Given the description of an element on the screen output the (x, y) to click on. 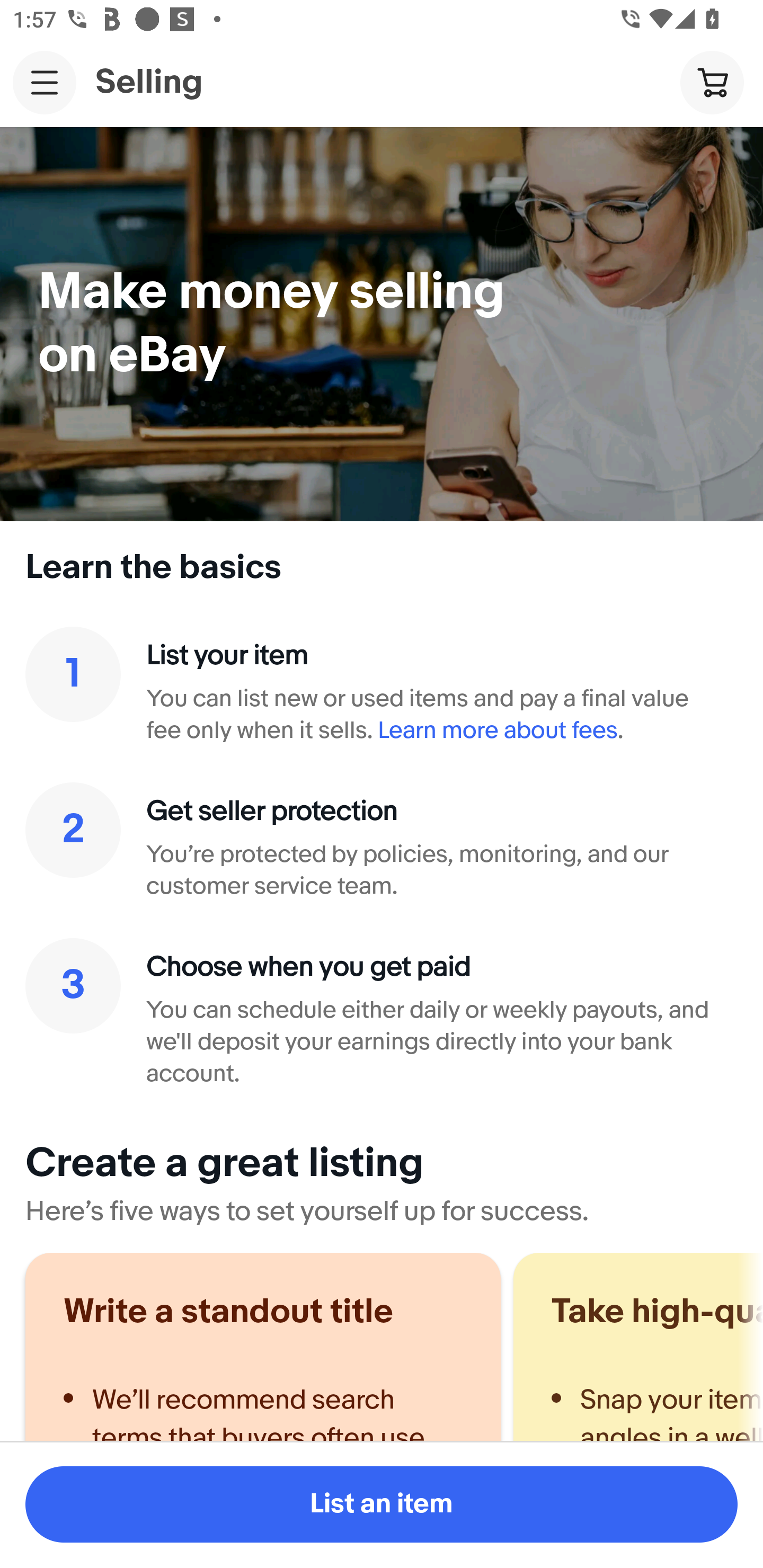
Main navigation, open (44, 82)
Cart button shopping cart (711, 81)
List an item (381, 1504)
